Given the description of an element on the screen output the (x, y) to click on. 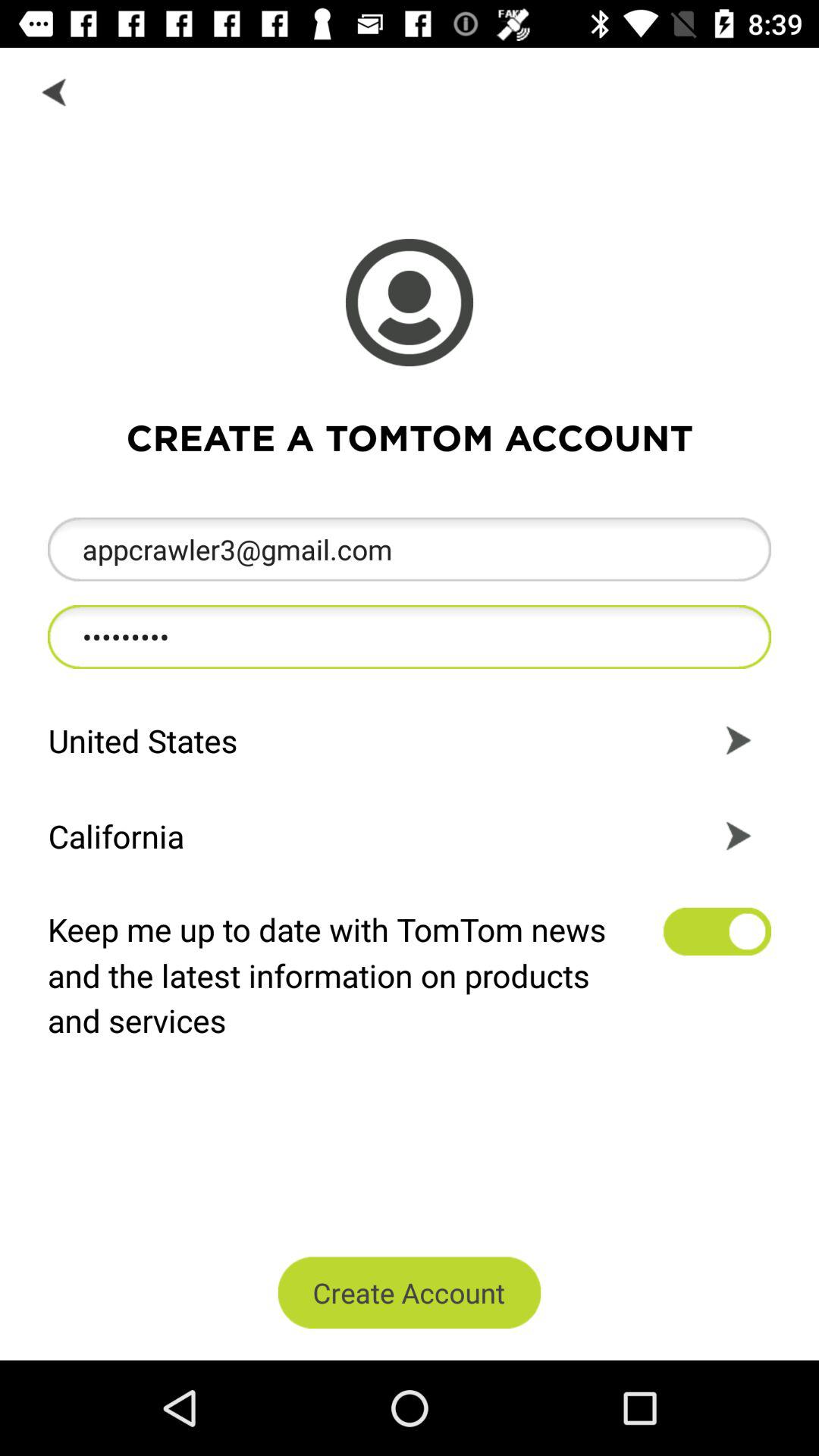
go to the backword option (55, 91)
